Given the description of an element on the screen output the (x, y) to click on. 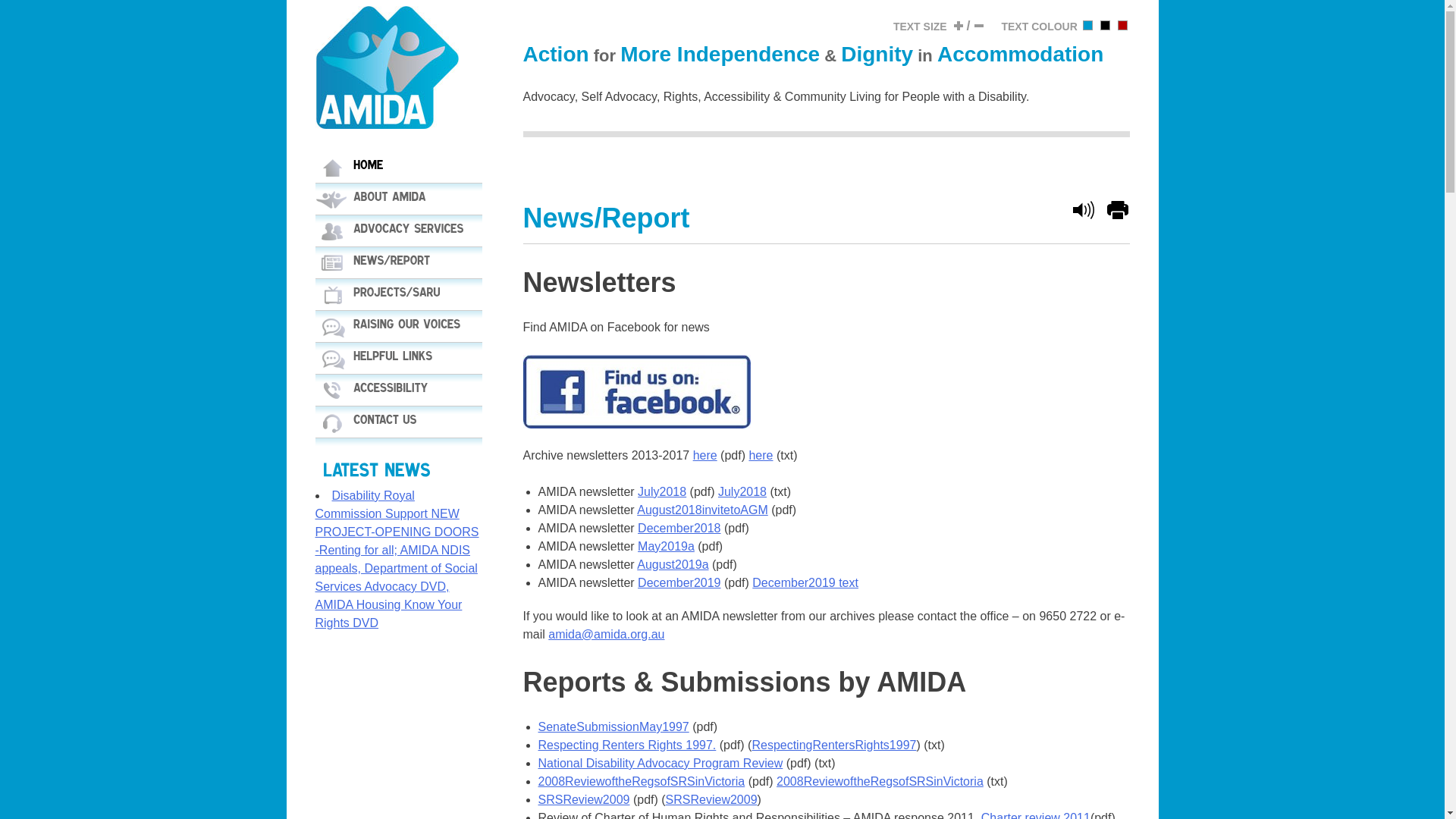
Hear This Page Element type: hover (1082, 209)
here Element type: text (760, 454)
SRSReview2009 Element type: text (711, 799)
Respecting Renters Rights 1997. Element type: text (627, 744)
SRSReview2009 Element type: text (584, 799)
December2018 Element type: text (678, 527)
July2018 Element type: text (742, 491)
December2019 text Element type: text (805, 582)
Make font size smaller Element type: hover (978, 25)
August2019a Element type: text (672, 564)
May2019a Element type: text (665, 545)
Print this page Element type: hover (1117, 217)
Make font size larger Element type: hover (958, 25)
SenateSubmissionMay1997 Element type: text (613, 726)
here Element type: text (705, 454)
August2018invitetoAGM Element type: text (702, 509)
RespectingRentersRights1997 Element type: text (833, 744)
July2018 Element type: text (661, 491)
amida@amida.org.au Element type: text (606, 633)
December2019 Element type: text (678, 582)
National Disability Advocacy Program Review Element type: text (660, 762)
2008ReviewoftheRegsofSRSinVictoria Element type: text (879, 781)
2008ReviewoftheRegsofSRSinVictoria Element type: text (641, 781)
